Given the description of an element on the screen output the (x, y) to click on. 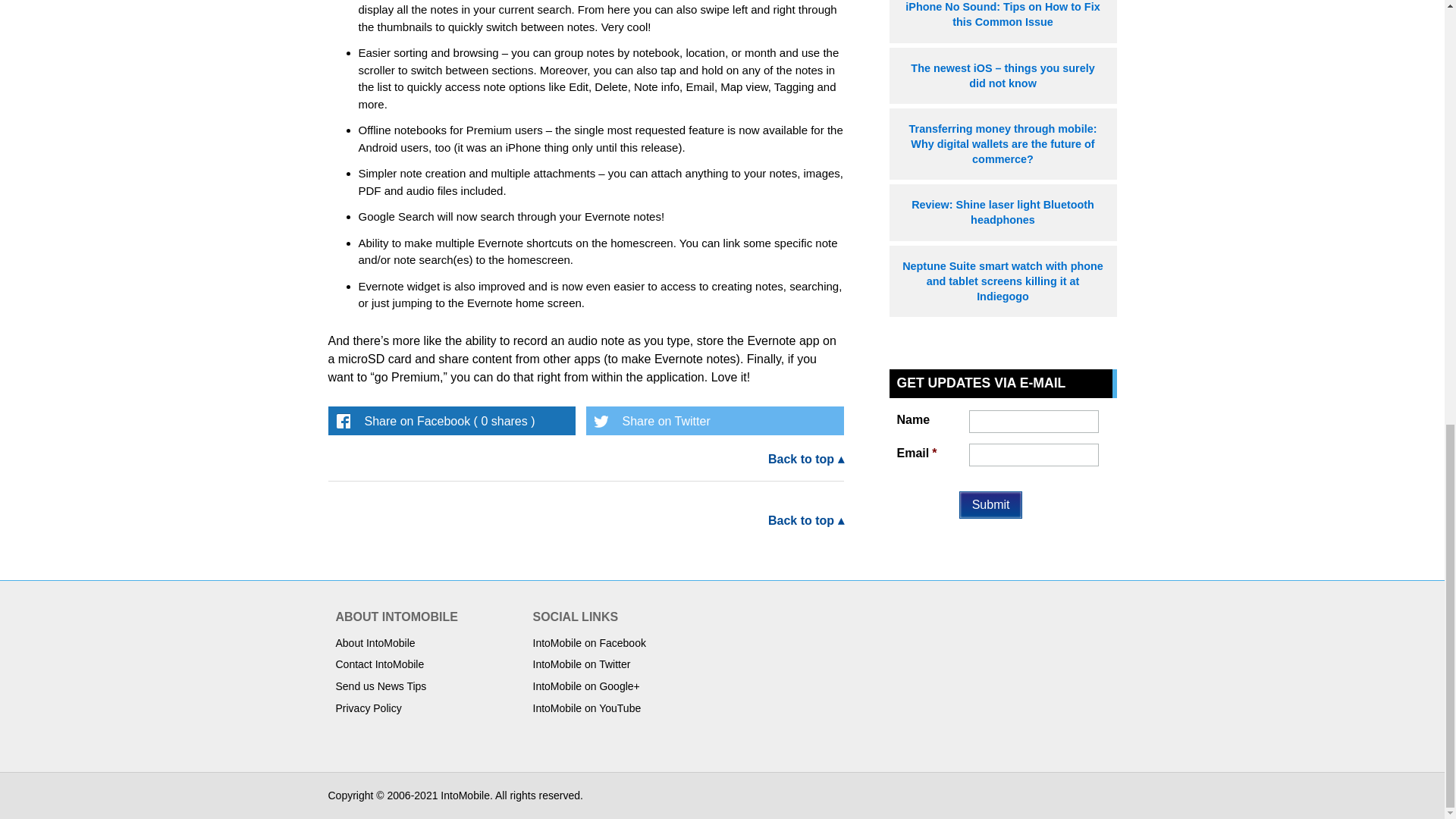
Share on Twitter (714, 419)
Share on Twitter (714, 419)
Submit (991, 504)
